Given the description of an element on the screen output the (x, y) to click on. 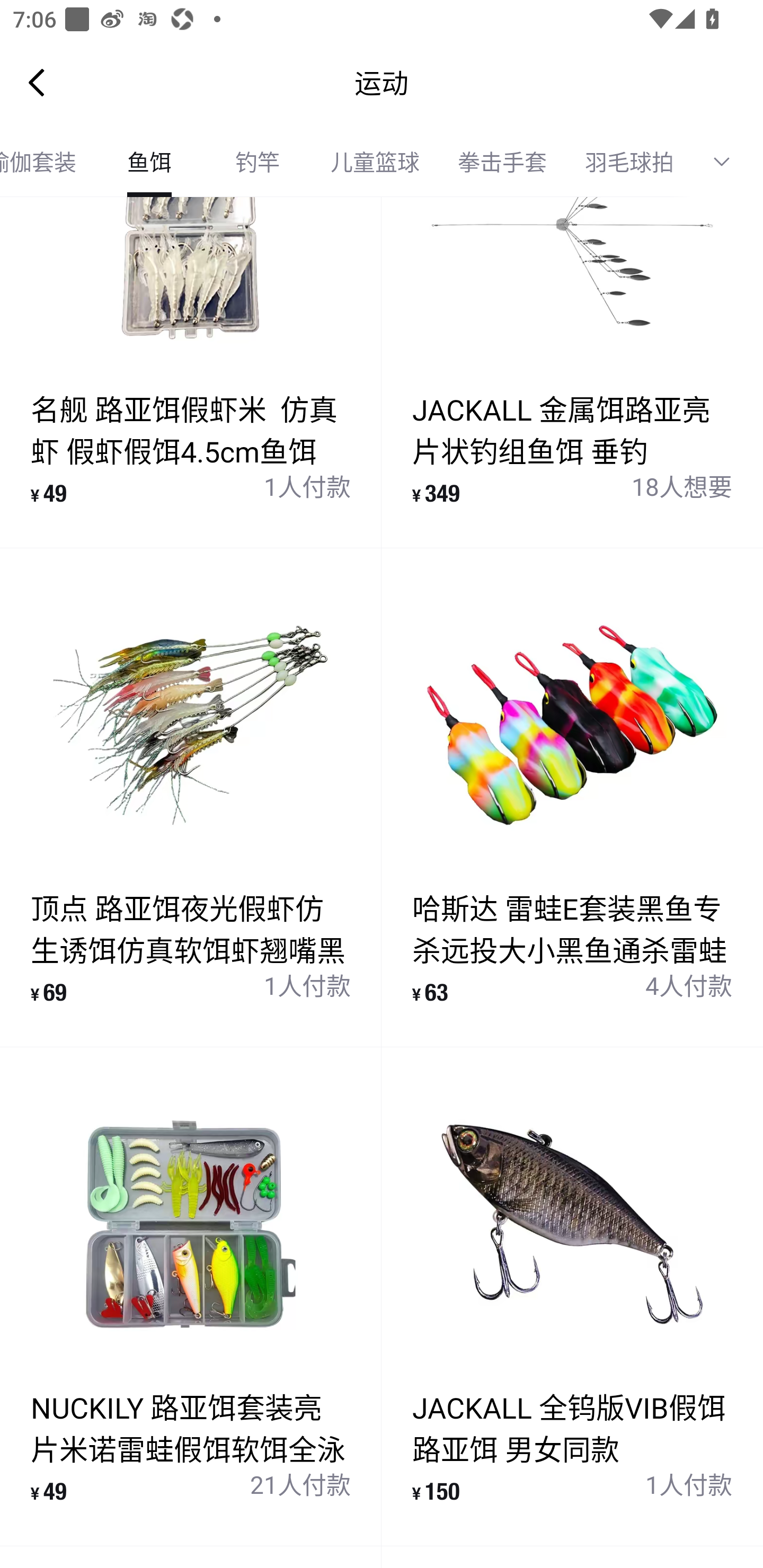
Navigate up (36, 82)
鱼饵 (149, 162)
钓竿 (257, 162)
儿童篮球 (374, 162)
拳击手套 (502, 162)
羽毛球拍 (629, 162)
 (727, 162)
JACKALL 金属饵路亚亮
片状钓组鱼饵 垂钓 ¥ 349 18人想要 (572, 372)
顶点 路亚饵夜光假虾仿
生诱饵仿真软饵虾翘嘴黑
鱼带钩绝杀鱼饵 ¥ 69 1人付款 (190, 797)
哈斯达 雷蛙E套装黑鱼专
杀远投大小黑鱼通杀雷蛙
改装路亚饵假饵套装 拟
饵 ¥ 63 4人付款 (572, 797)
NUCKILY 路亚饵套装亮
片米诺雷蛙假饵软饵全泳
层渔饵鱼饵 男女同款 ¥ 49 21人付款 (190, 1296)
JACKALL 全钨版VIB假饵
路亚饵 男女同款 ¥ 150 1人付款 (572, 1296)
